Given the description of an element on the screen output the (x, y) to click on. 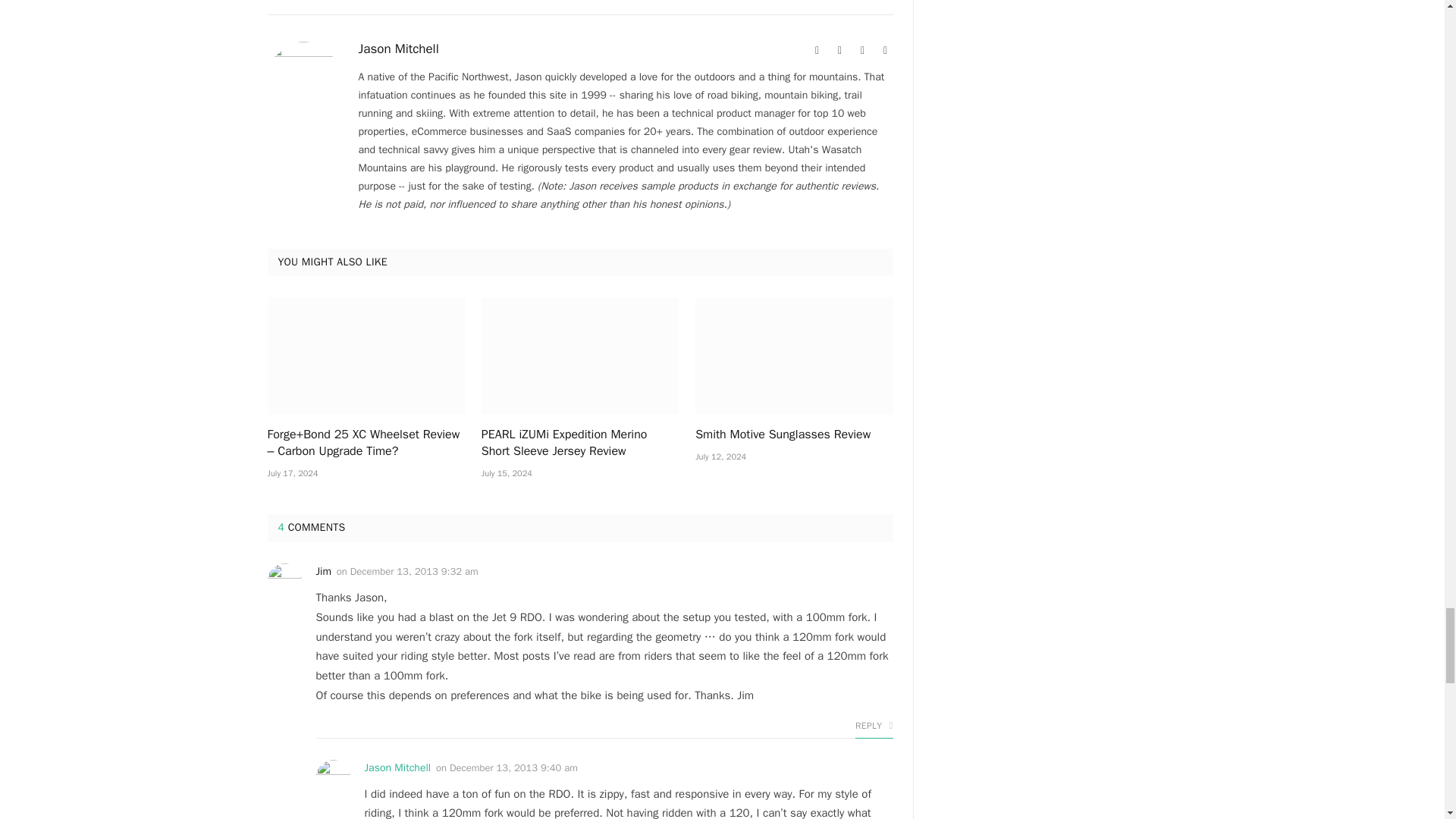
Posts by Jason Mitchell (398, 48)
LinkedIn (885, 50)
Jason Mitchell (398, 48)
Instagram (863, 50)
Website (817, 50)
